Given the description of an element on the screen output the (x, y) to click on. 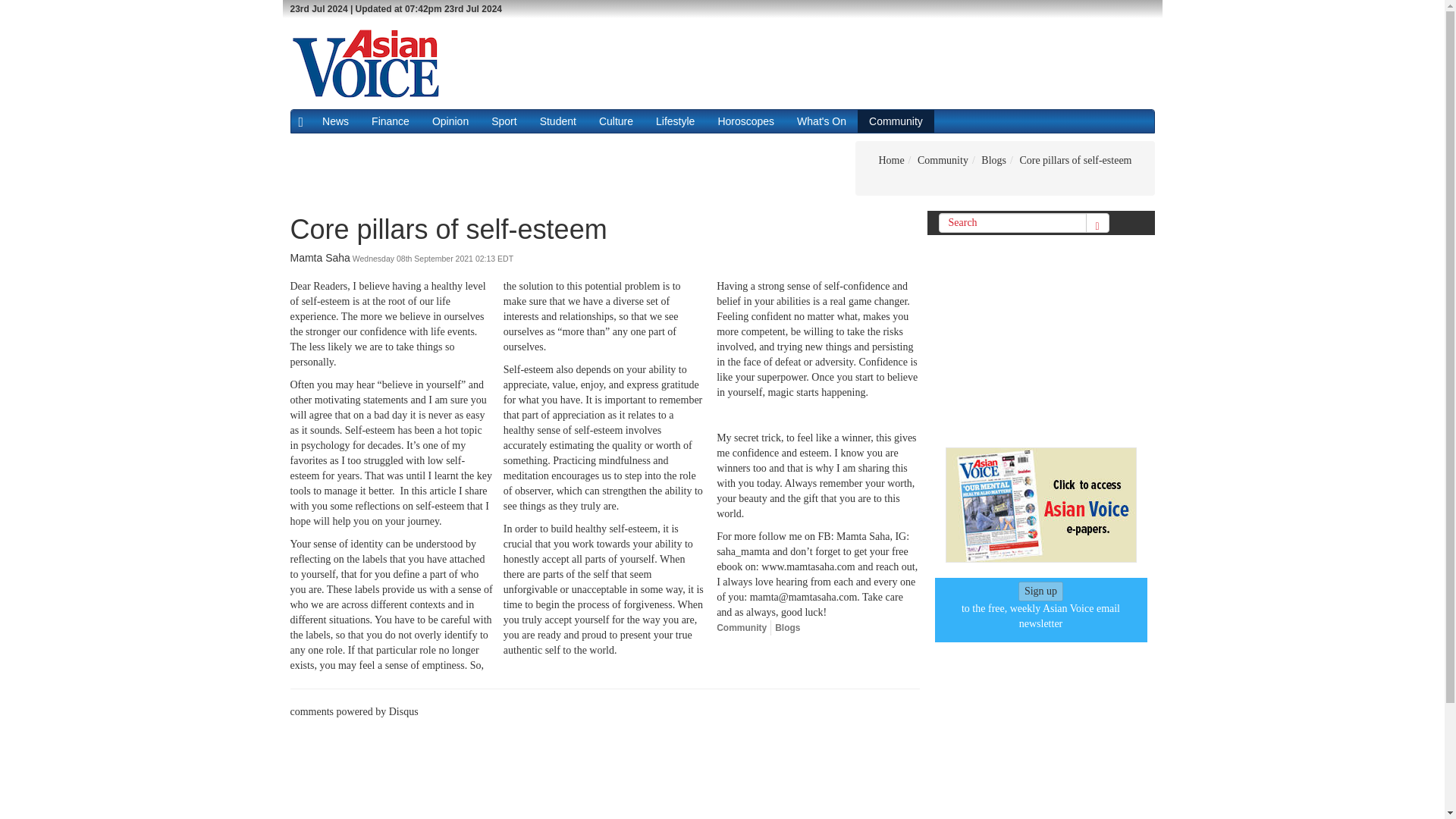
Home (890, 160)
Community (942, 160)
Finance (389, 120)
Horoscopes (746, 120)
Lifestyle (675, 120)
www.mamtasaha.com (808, 566)
Community (741, 627)
News (335, 120)
Opinion (450, 120)
Community (895, 120)
Sign up (1039, 591)
comments powered by Disqus (353, 711)
Sign up (1039, 591)
What's On (821, 120)
Culture (616, 120)
